Given the description of an element on the screen output the (x, y) to click on. 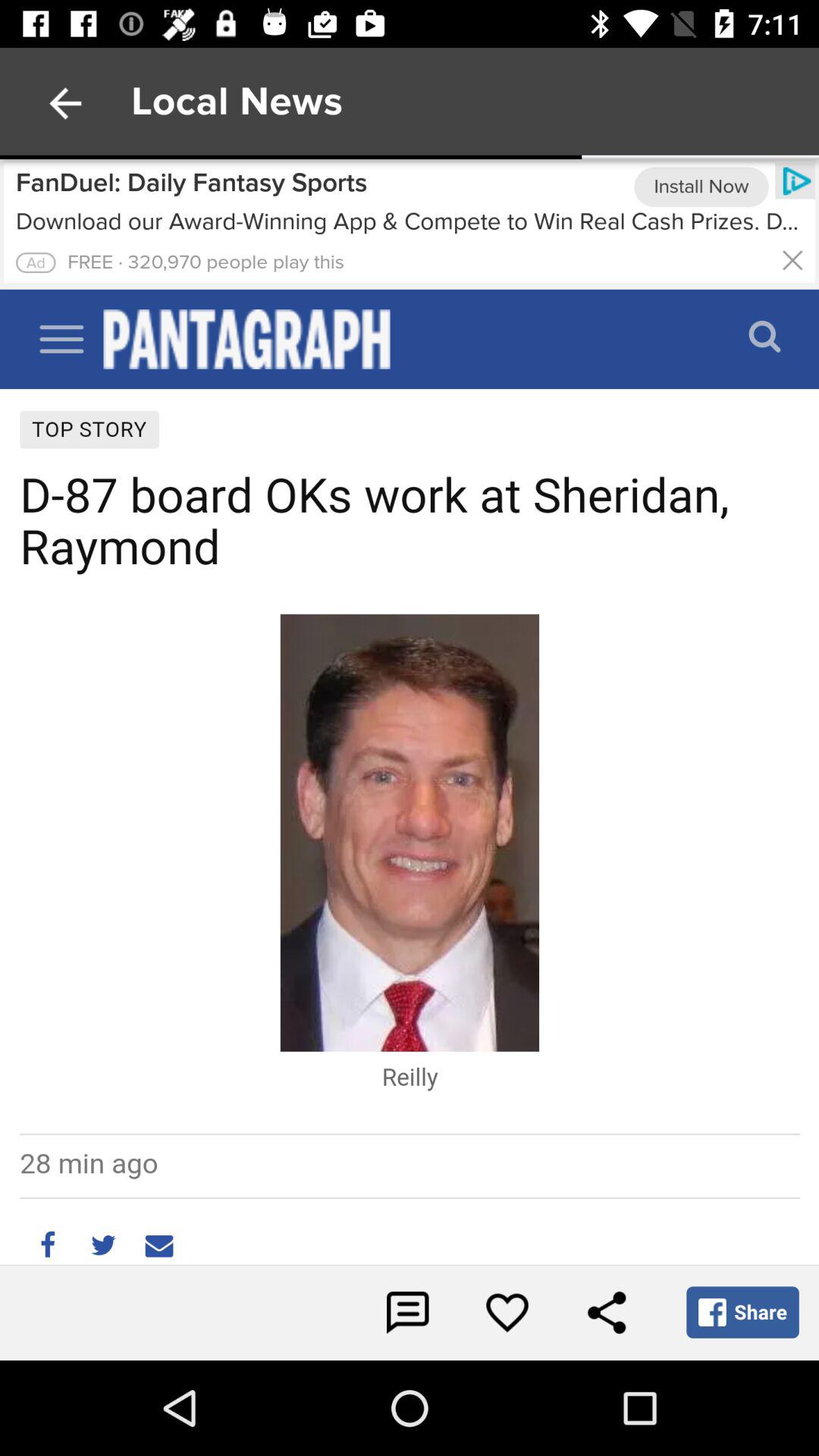
share pantagraph (606, 1312)
